Given the description of an element on the screen output the (x, y) to click on. 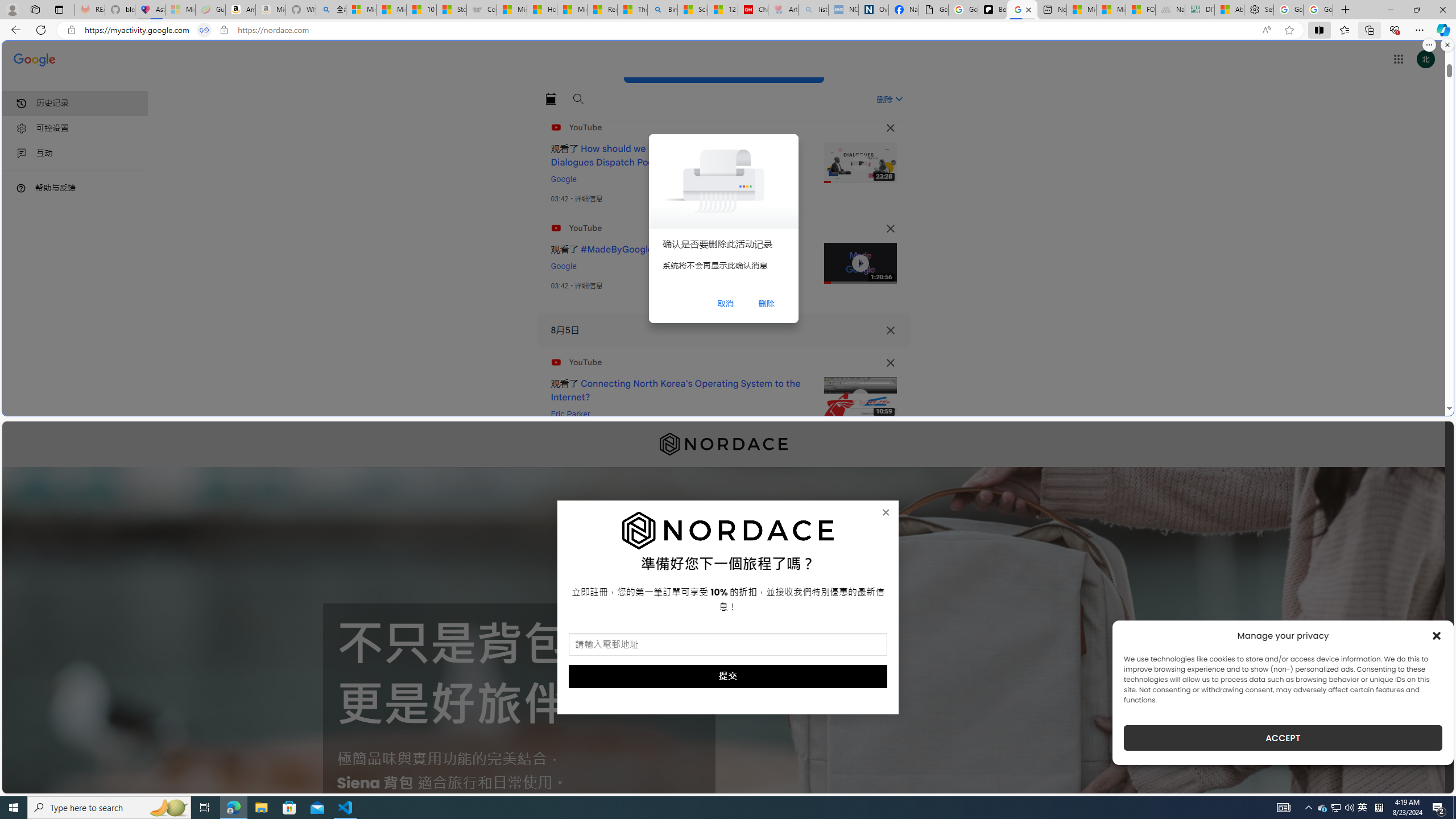
Class: cmplz-close (1436, 635)
To get missing image descriptions, open the context menu. (727, 530)
Class: DTiKkd NMm5M (21, 188)
Navy Quest (1169, 9)
